Given the description of an element on the screen output the (x, y) to click on. 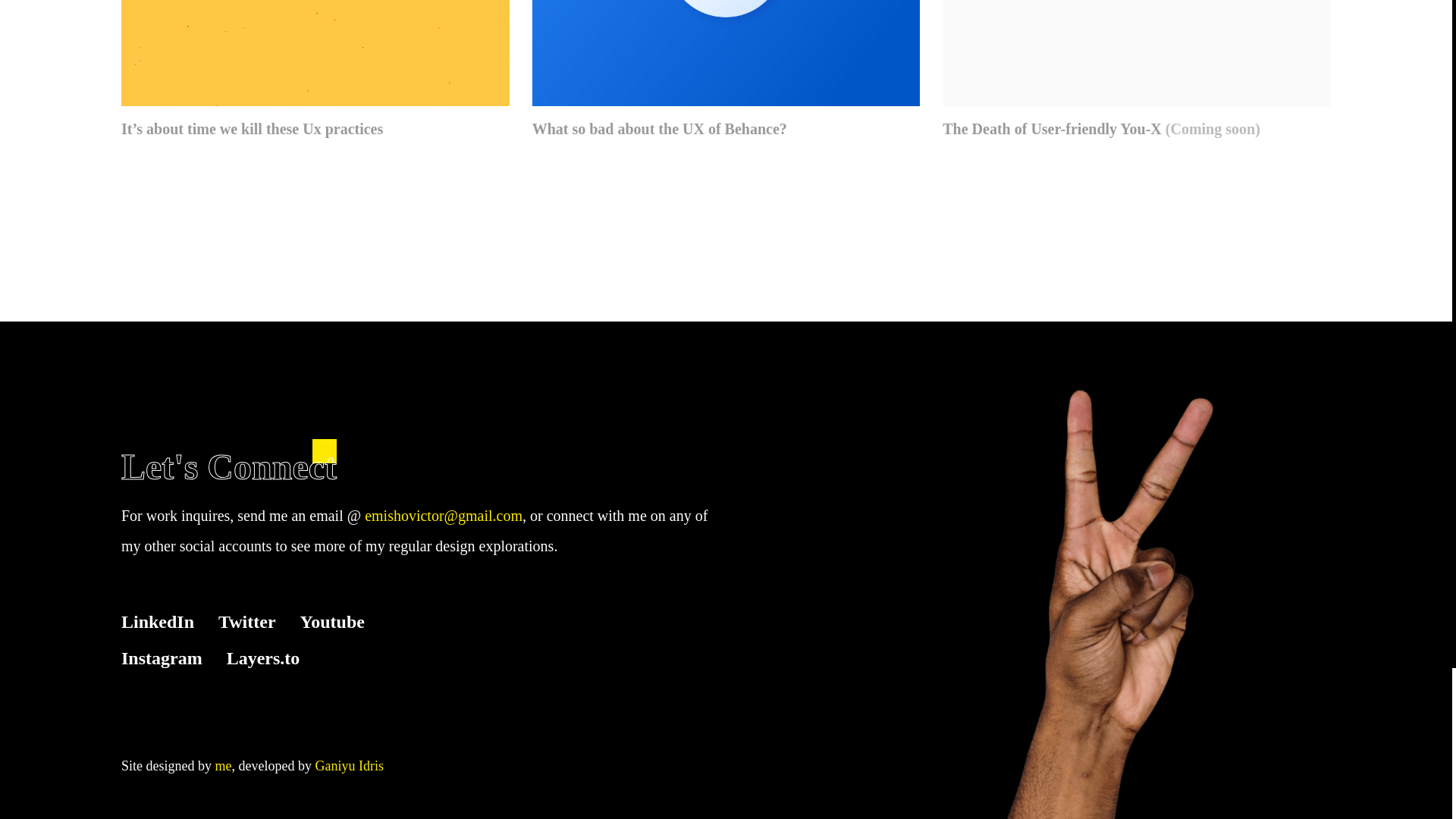
me (223, 765)
LinkedIn (156, 621)
Instagram (161, 658)
What so bad about the UX of Behance? (726, 69)
Youtube (332, 621)
Layers.to (263, 658)
Ganiyu Idris (348, 765)
Twitter (247, 621)
